Given the description of an element on the screen output the (x, y) to click on. 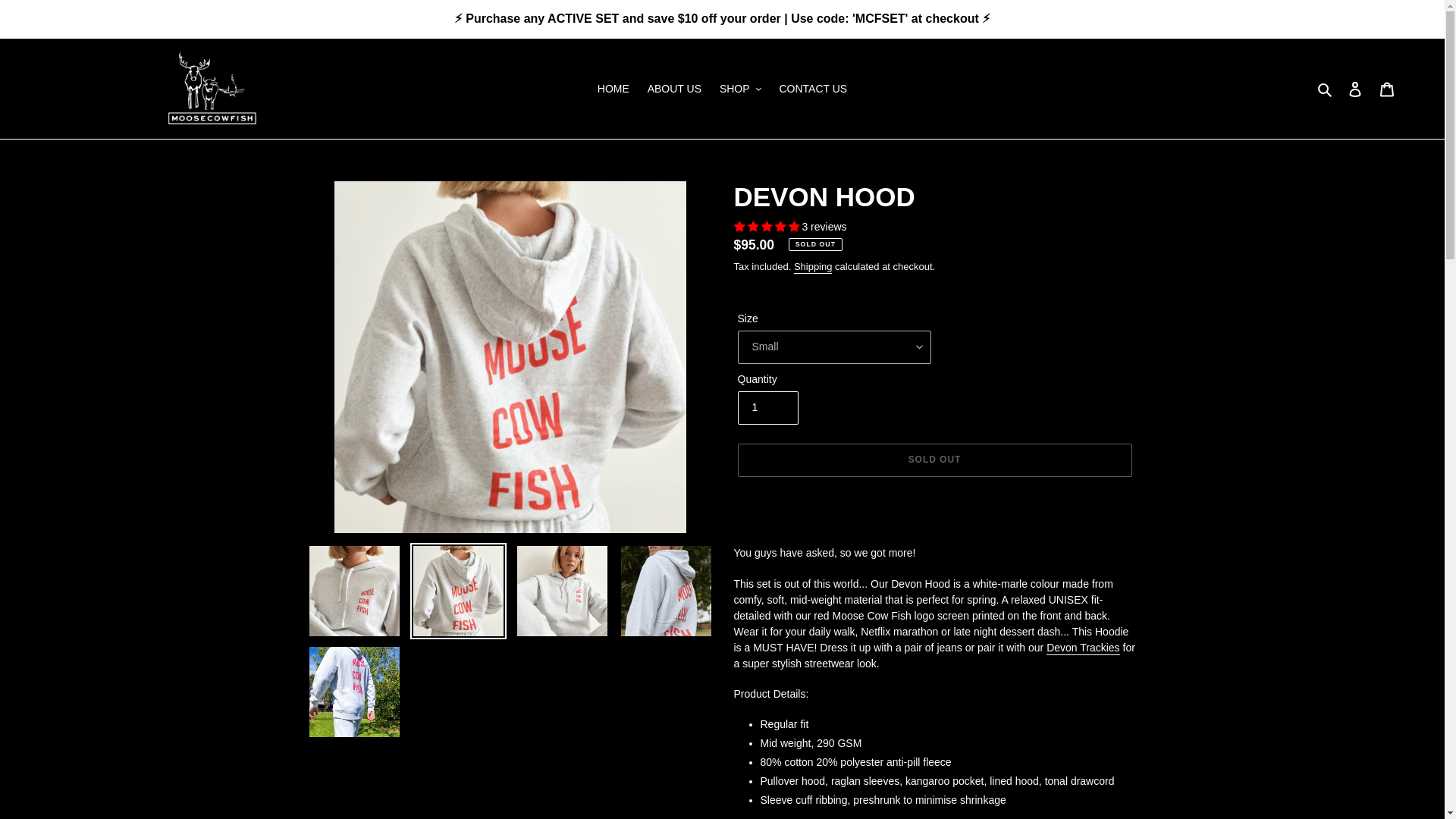
HOME (613, 88)
Cart (1387, 88)
SHOP (739, 88)
CONTACT US (812, 88)
Search (1326, 88)
1 (766, 408)
ABOUT US (674, 88)
Log in (1355, 88)
